Given the description of an element on the screen output the (x, y) to click on. 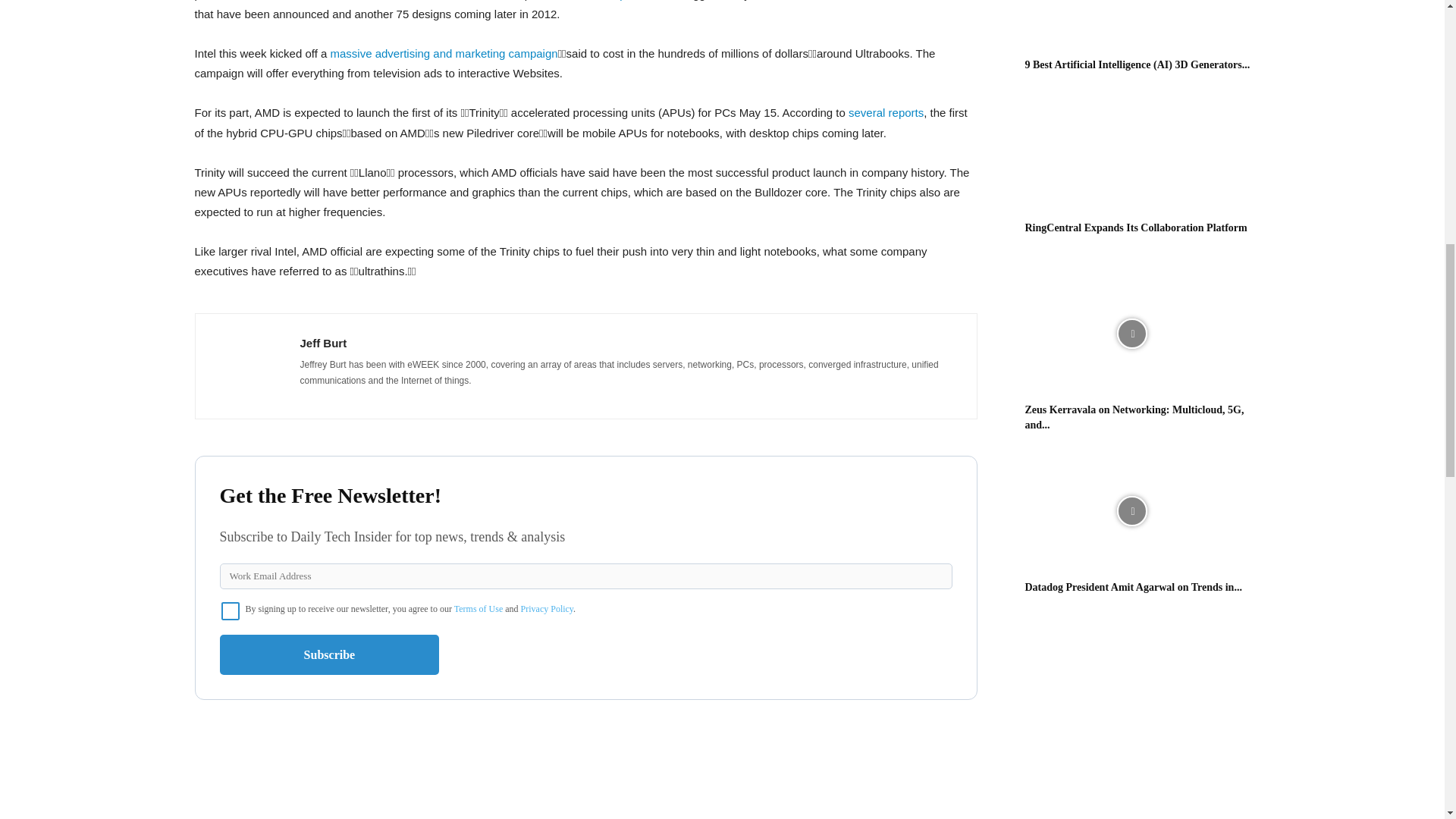
Zeus Kerravala on Networking: Multicloud, 5G, and Automation (1131, 333)
Zeus Kerravala on Networking: Multicloud, 5G, and Automation (1134, 417)
RingCentral Expands Its Collaboration Platform (1136, 227)
RingCentral Expands Its Collaboration Platform (1131, 151)
on (230, 610)
